Given the description of an element on the screen output the (x, y) to click on. 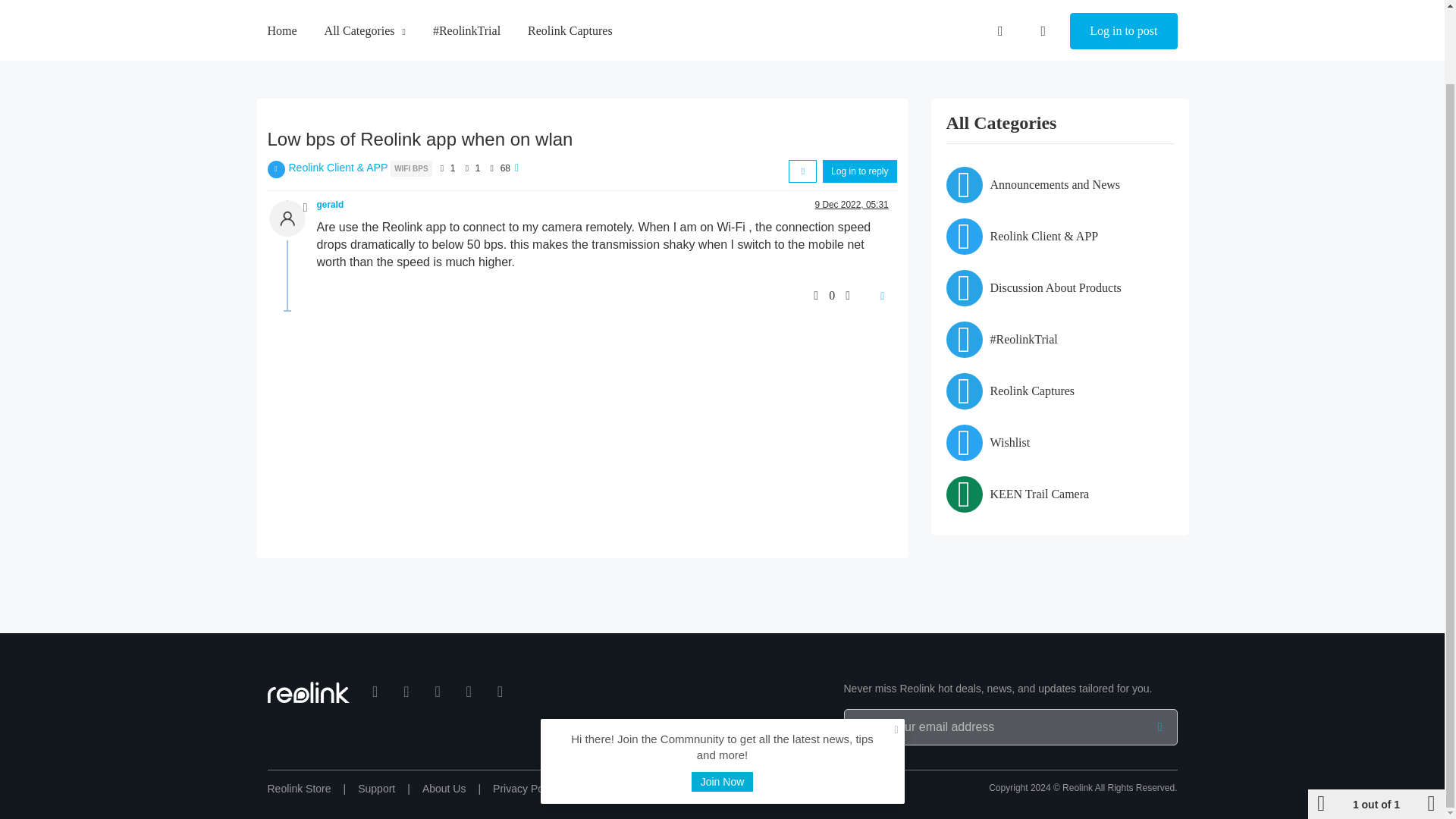
Posters (440, 167)
gerald (330, 204)
Log in to reply (859, 170)
WIFI BPS (410, 167)
9 Dec 2022, 05:31 (850, 204)
Log in to post (1123, 5)
9 Dec 2022, 05:31 (850, 204)
68 (505, 167)
Posts (466, 167)
Views (491, 167)
